Given the description of an element on the screen output the (x, y) to click on. 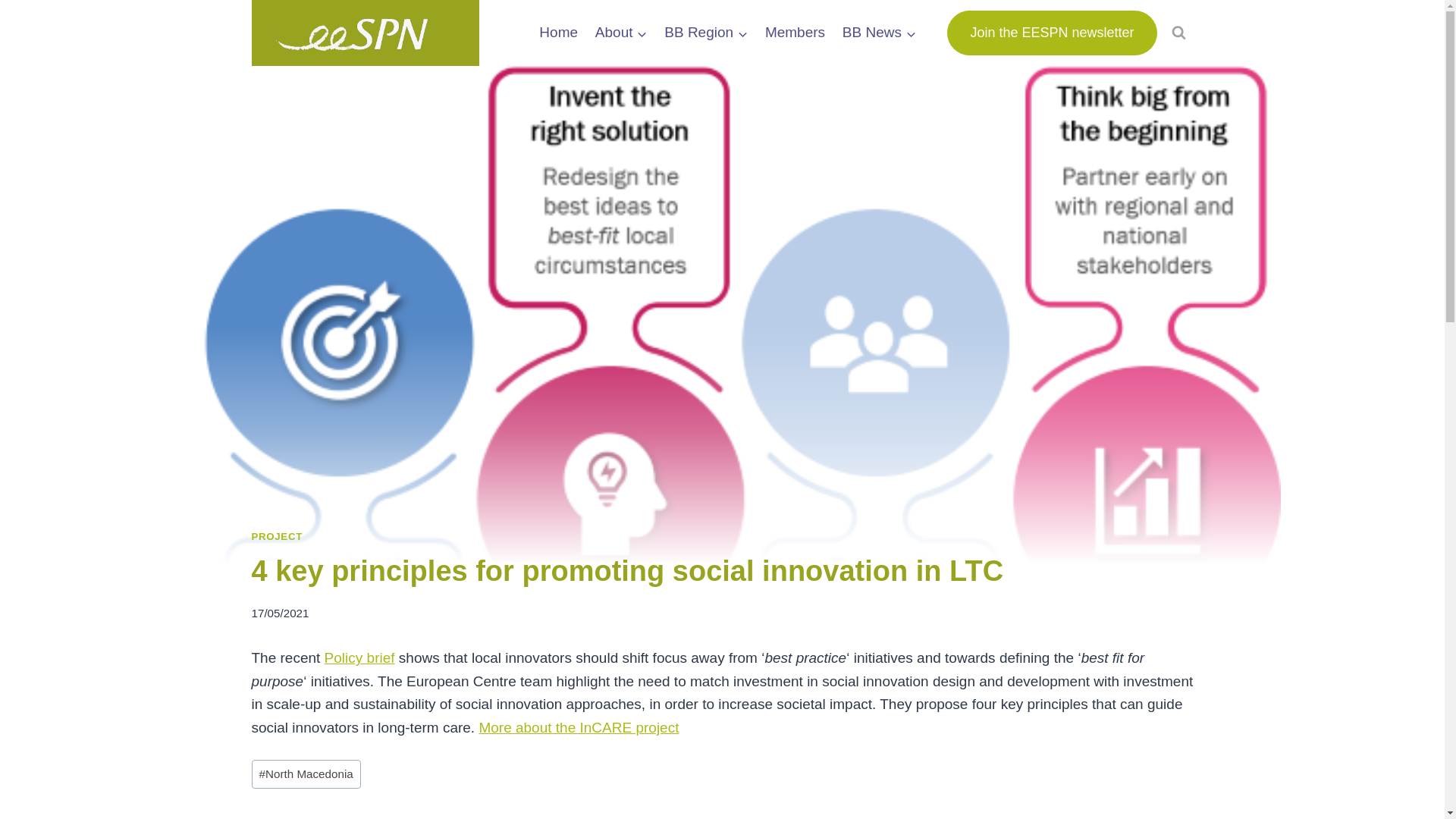
Members (795, 33)
About (620, 33)
BB News (878, 33)
PROJECT (276, 536)
Home (558, 33)
Policy brief (359, 657)
More about the InCARE project (578, 727)
Join the EESPN newsletter (1051, 32)
North Macedonia (306, 774)
BB Region (706, 33)
